Given the description of an element on the screen output the (x, y) to click on. 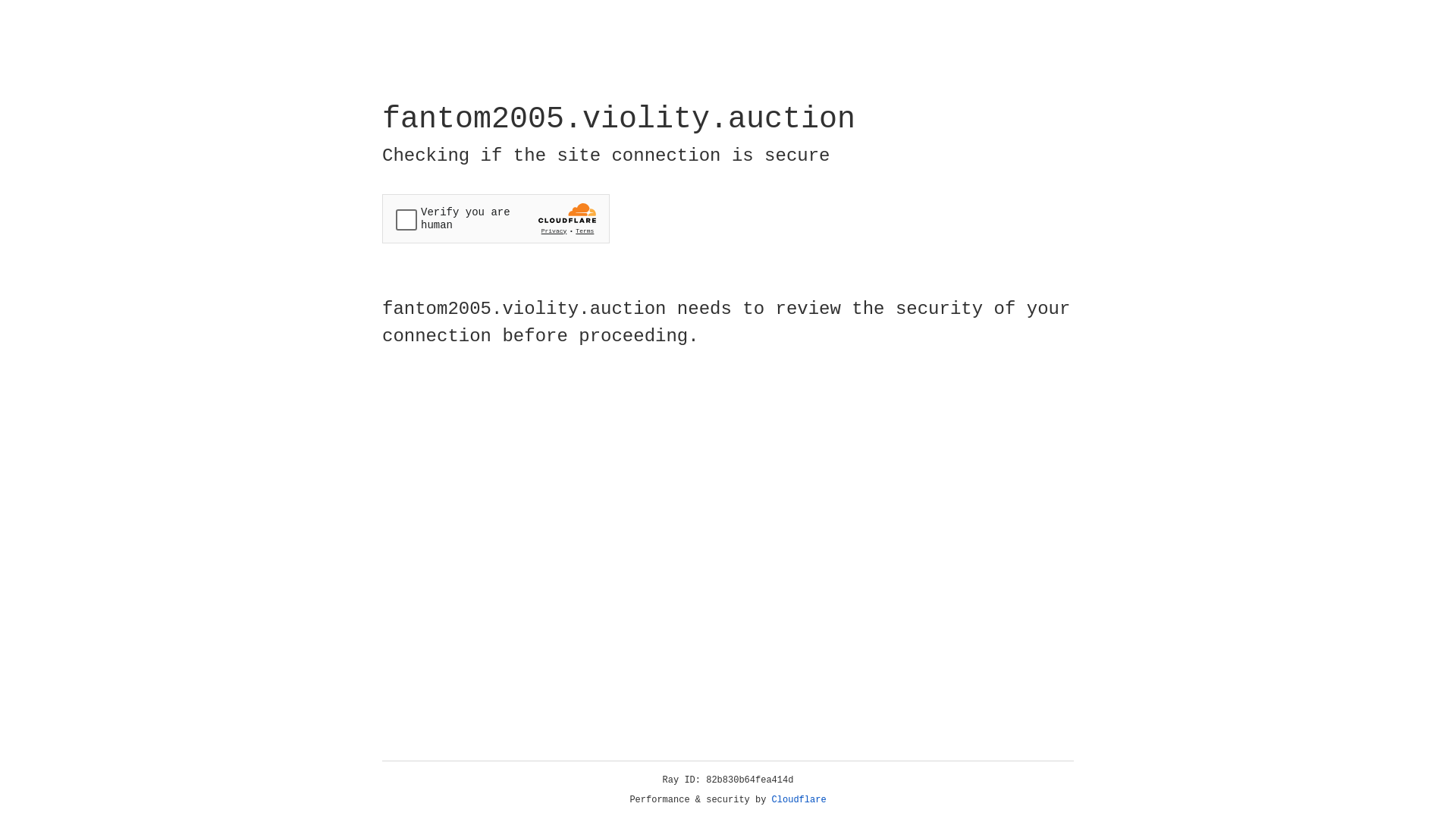
Widget containing a Cloudflare security challenge Element type: hover (495, 218)
Cloudflare Element type: text (798, 799)
